Given the description of an element on the screen output the (x, y) to click on. 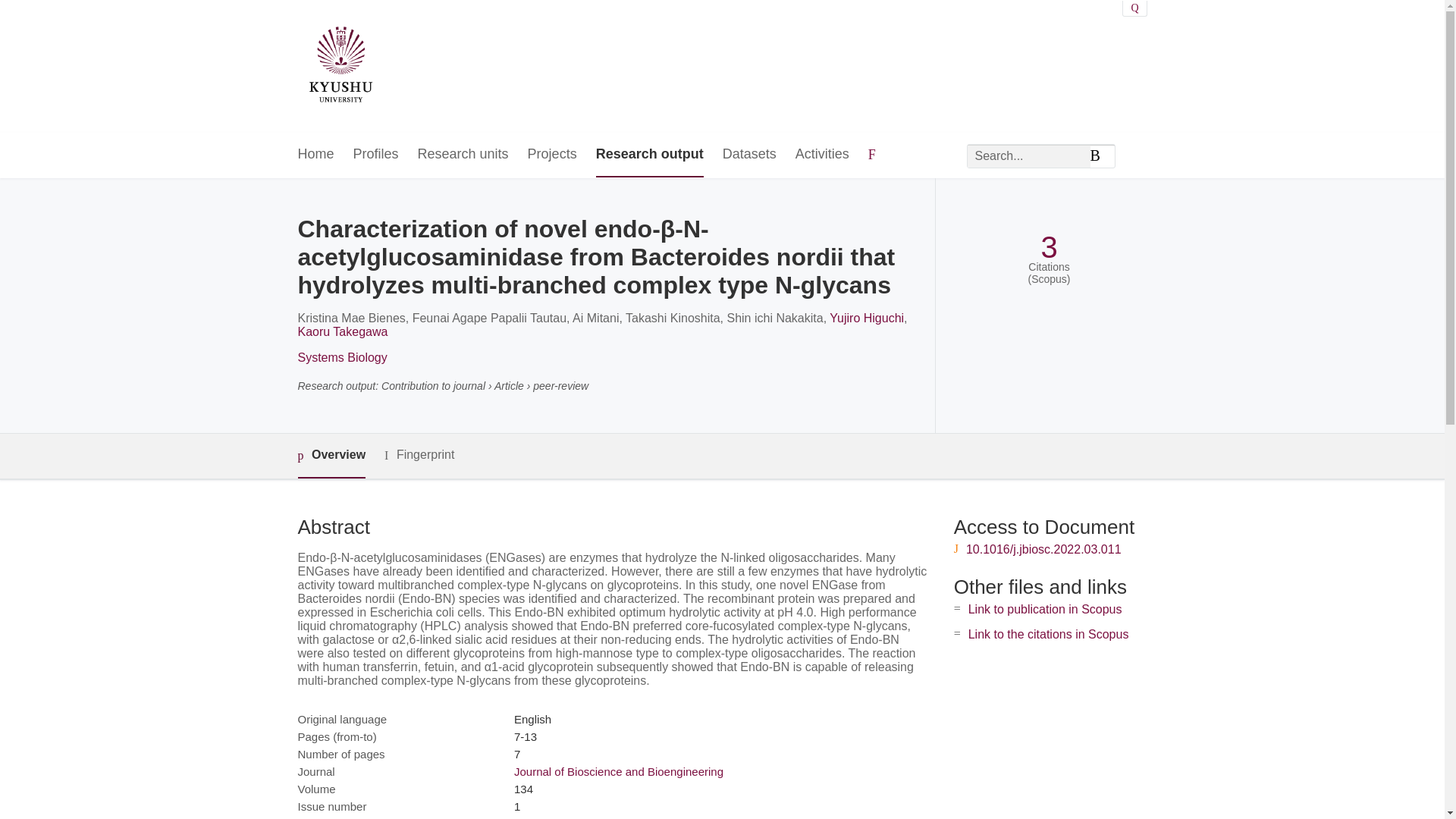
3 (1049, 247)
Link to publication in Scopus (1045, 608)
Overview (331, 456)
Link to the citations in Scopus (1048, 634)
Research units (462, 154)
Profiles (375, 154)
Kaoru Takegawa (342, 331)
Systems Biology (342, 357)
Fingerprint (419, 455)
Datasets (749, 154)
Journal of Bioscience and Bioengineering (618, 771)
Research output (649, 154)
Home (315, 154)
Kyushu University Home (340, 66)
